Given the description of an element on the screen output the (x, y) to click on. 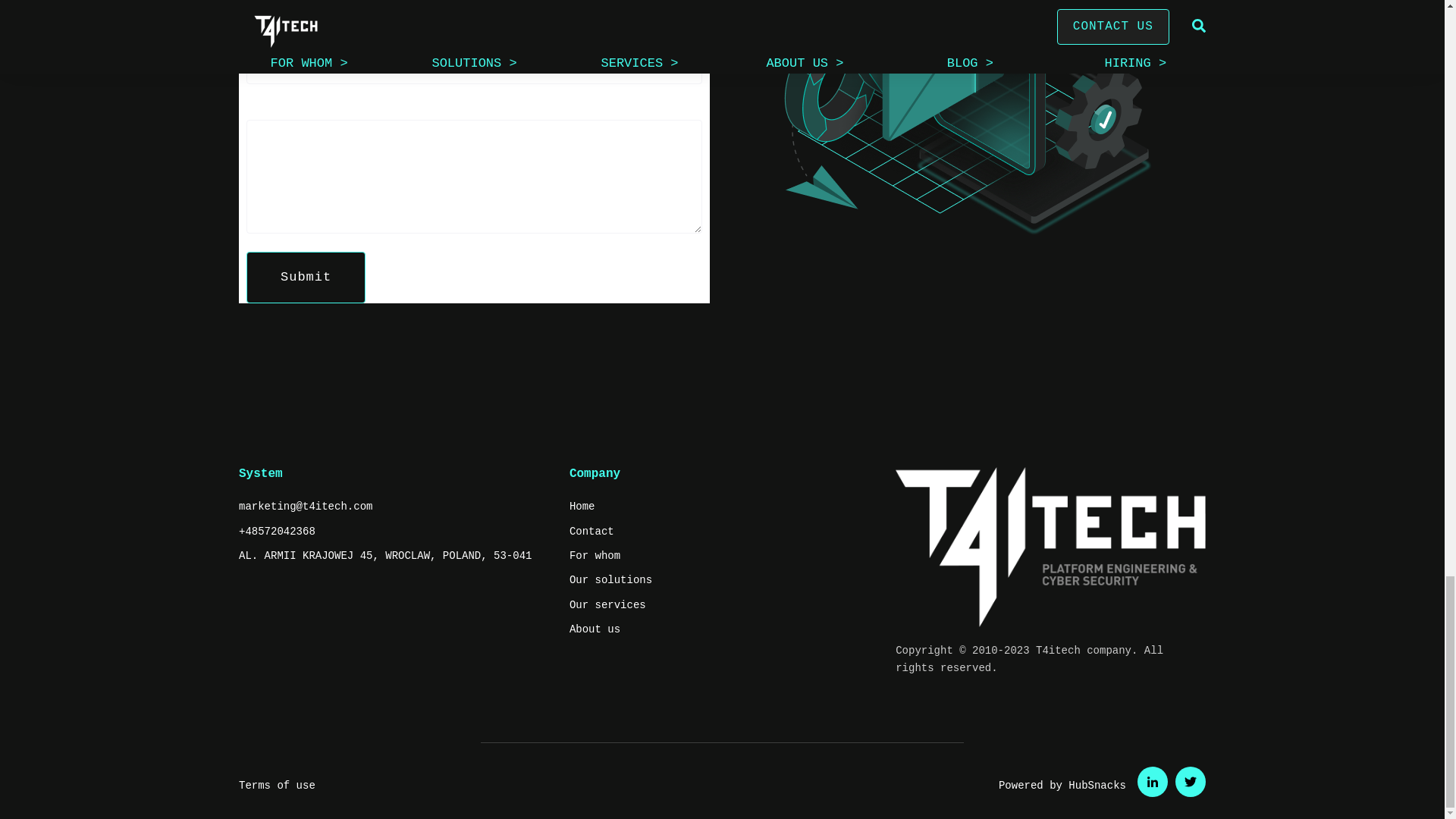
About us (594, 629)
Home (582, 506)
For whom (594, 555)
Logo T4I tech white full (1050, 547)
AL. ARMII KRAJOWEJ 45, WROCLAW, POLAND, 53-041 (384, 555)
Terms of use (276, 785)
Submit (305, 277)
Our services (607, 604)
Contact (591, 530)
Submit (305, 277)
